Given the description of an element on the screen output the (x, y) to click on. 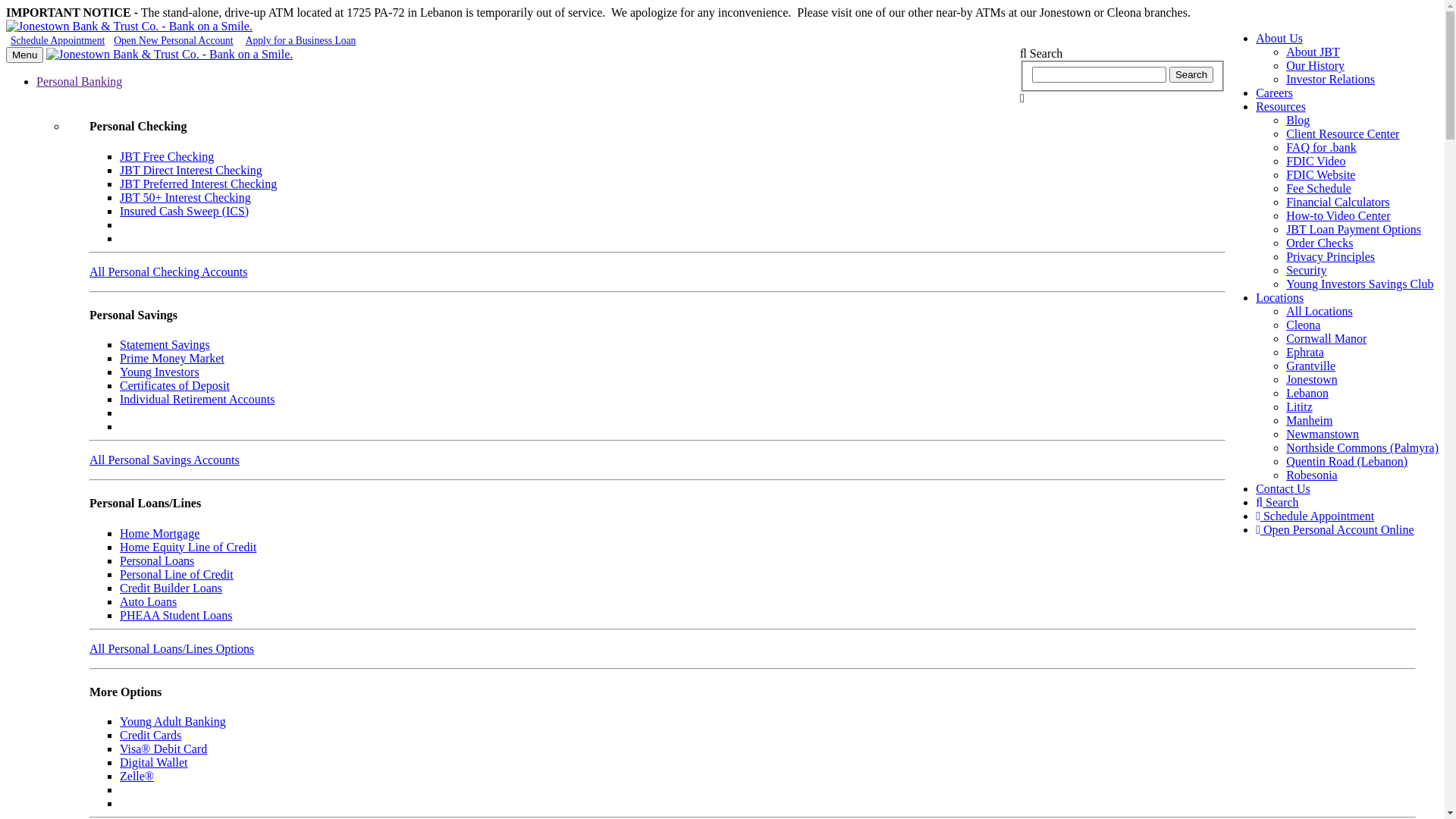
Financial Calculators Element type: text (1337, 201)
Blog Element type: text (1297, 119)
Credit Builder Loans Element type: text (170, 587)
Cleona Element type: text (1303, 324)
Quentin Road (Lebanon) Element type: text (1346, 461)
Search Element type: text (1276, 501)
Personal Loans Element type: text (156, 560)
Client Resource Center Element type: text (1342, 133)
Young Investors Savings Club Element type: text (1359, 283)
Our History Element type: text (1315, 65)
JBT 50+ Interest Checking Element type: text (185, 197)
Locations Element type: text (1279, 297)
JBT Free Checking Element type: text (166, 156)
Newmanstown Element type: text (1322, 433)
Home Mortgage Element type: text (159, 533)
Home Equity Line of Credit Element type: text (187, 546)
FDIC Video Element type: text (1315, 160)
Open Personal Account Online Element type: text (1334, 529)
Prime Money Market Element type: text (171, 357)
FDIC Website Element type: text (1320, 174)
Young Investors Element type: text (159, 371)
Order Checks Element type: text (1319, 242)
Resources Element type: text (1280, 106)
JBT Loan Payment Options Element type: text (1353, 228)
PHEAA Student Loans Element type: text (175, 614)
Statement Savings Element type: text (164, 344)
Careers Element type: text (1273, 92)
Schedule Appointment Element type: text (57, 40)
Insured Cash Sweep (ICS) Element type: text (183, 210)
Certificates of Deposit Element type: text (174, 385)
All Personal Checking Accounts Element type: text (168, 271)
Robesonia Element type: text (1311, 474)
Contact Us Element type: text (1282, 488)
Grantville Element type: text (1310, 365)
Lititz Element type: text (1299, 406)
About Us Element type: text (1278, 37)
Schedule Appointment Element type: text (1314, 515)
Young Adult Banking Element type: text (172, 721)
Cornwall Manor Element type: text (1326, 338)
Fee Schedule Element type: text (1318, 188)
All Personal Savings Accounts Element type: text (164, 459)
Toggle navigation
Menu Element type: text (24, 54)
Security Element type: text (1306, 269)
All Personal Loans/Lines Options Element type: text (171, 648)
Manheim Element type: text (1309, 420)
FAQ for .bank Element type: text (1321, 147)
Auto Loans Element type: text (147, 601)
How-to Video Center Element type: text (1338, 215)
Jonestown Element type: text (1311, 379)
Northside Commons (Palmyra) Element type: text (1362, 447)
Search Element type: text (1191, 74)
Personal Banking Element type: text (79, 81)
Apply for a Business Loan Element type: text (300, 40)
Personal Line of Credit Element type: text (176, 573)
Ephrata Element type: text (1305, 351)
Investor Relations Element type: text (1330, 78)
Open New Personal Account Element type: text (173, 40)
Digital Wallet Element type: text (153, 762)
About JBT Element type: text (1312, 51)
Privacy Principles Element type: text (1330, 256)
JBT Preferred Interest Checking Element type: text (197, 183)
Lebanon Element type: text (1307, 392)
Individual Retirement Accounts Element type: text (196, 398)
Credit Cards Element type: text (150, 734)
All Locations Element type: text (1319, 310)
JBT Direct Interest Checking Element type: text (190, 169)
